Given the description of an element on the screen output the (x, y) to click on. 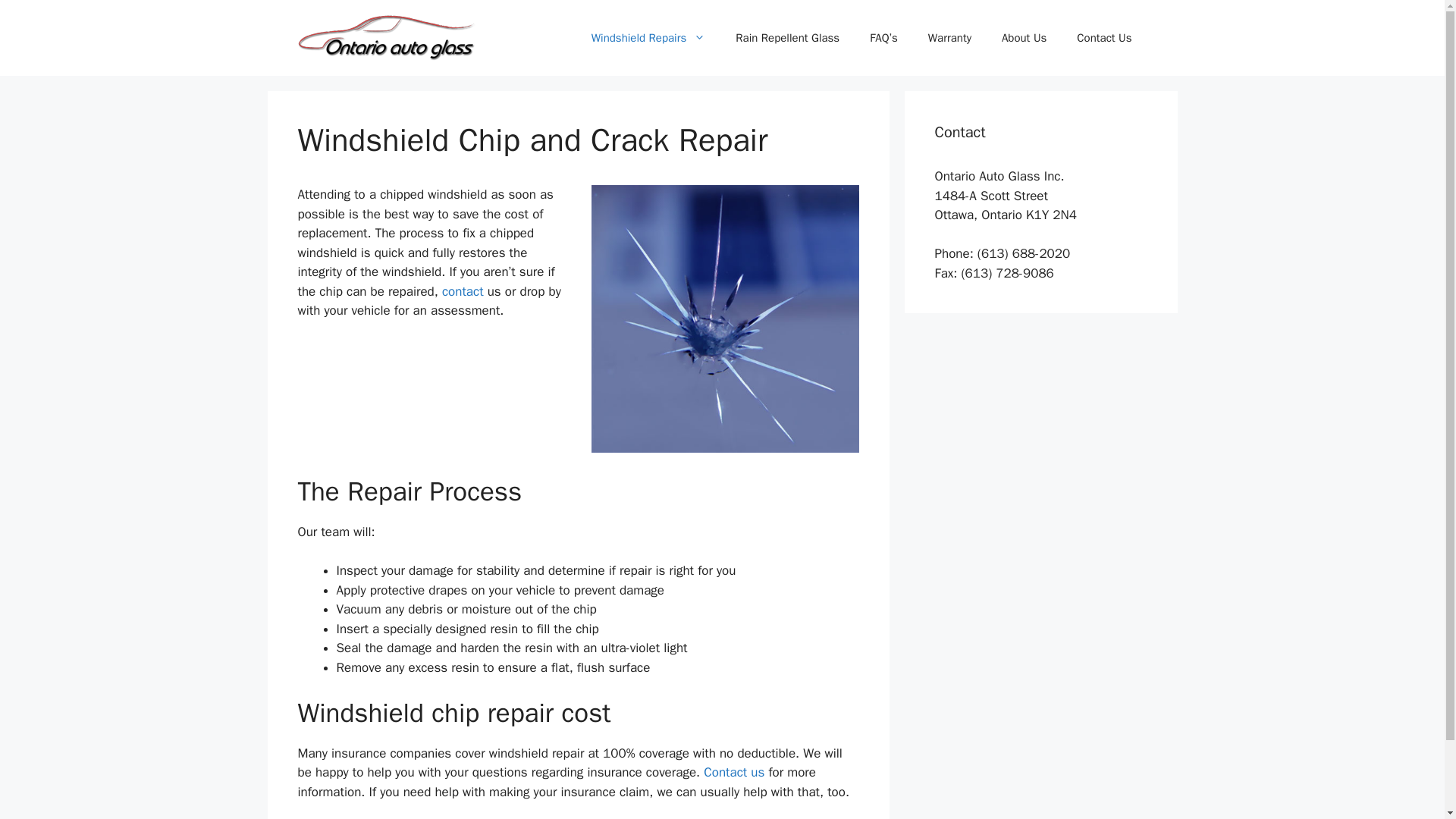
Contact Us (1104, 37)
About Us (1024, 37)
Contact us (733, 772)
contact (462, 291)
Windshield Repairs (648, 37)
Warranty (949, 37)
Contact Us (733, 772)
Contact Us (462, 291)
Rain Repellent Glass (787, 37)
